Given the description of an element on the screen output the (x, y) to click on. 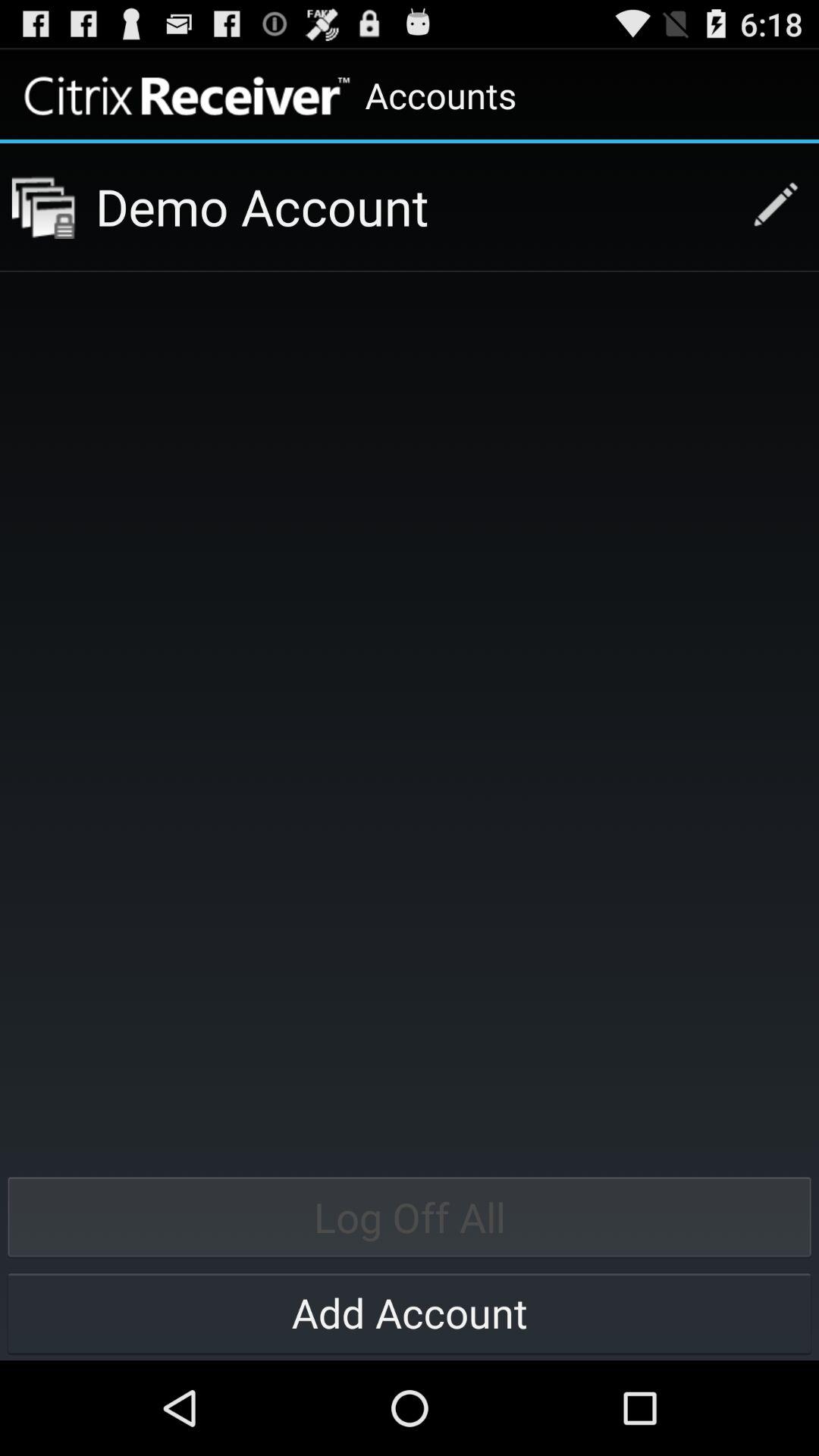
tap button above log off all button (768, 206)
